Given the description of an element on the screen output the (x, y) to click on. 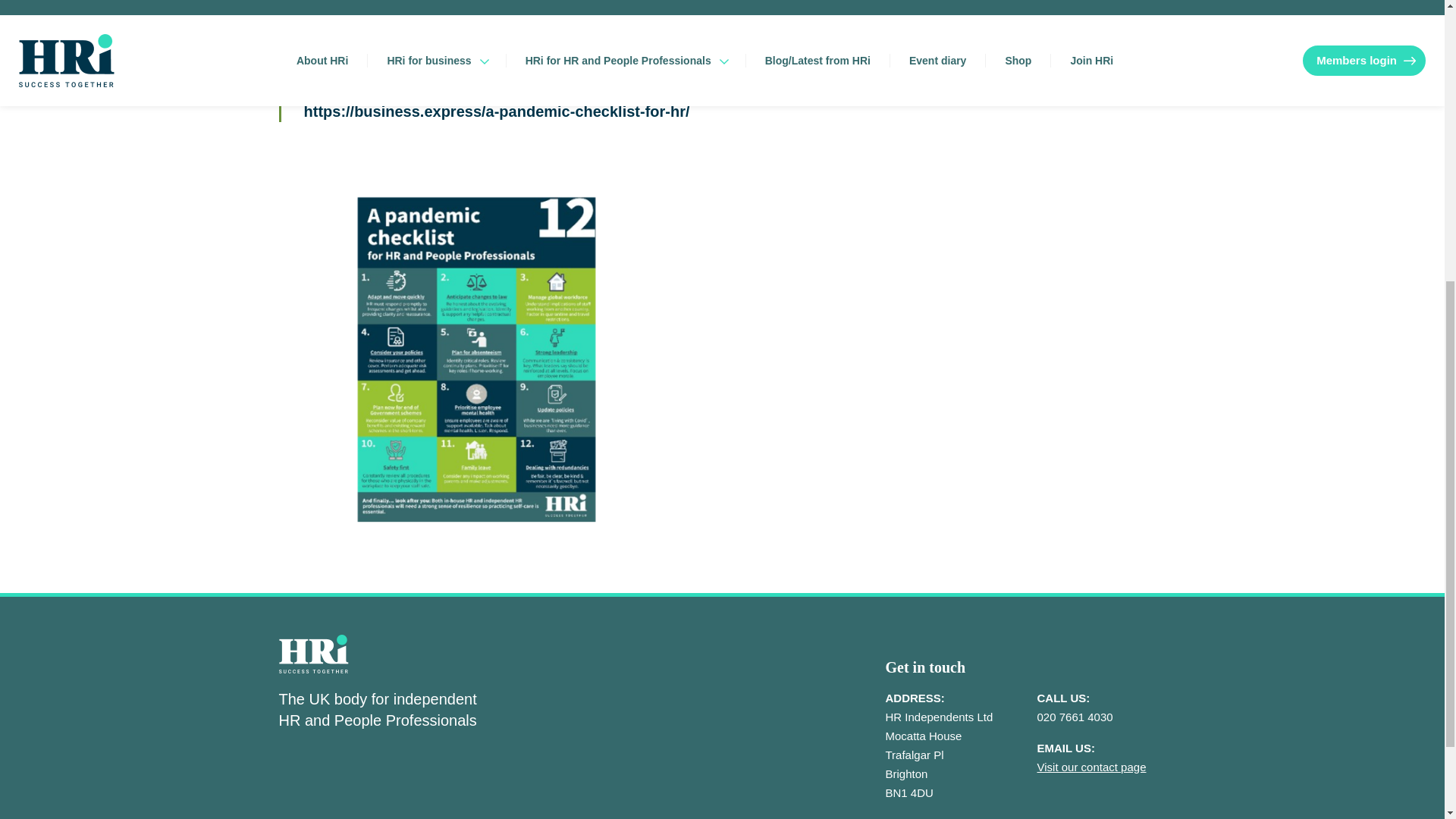
Visit our contact page (1091, 766)
